Given the description of an element on the screen output the (x, y) to click on. 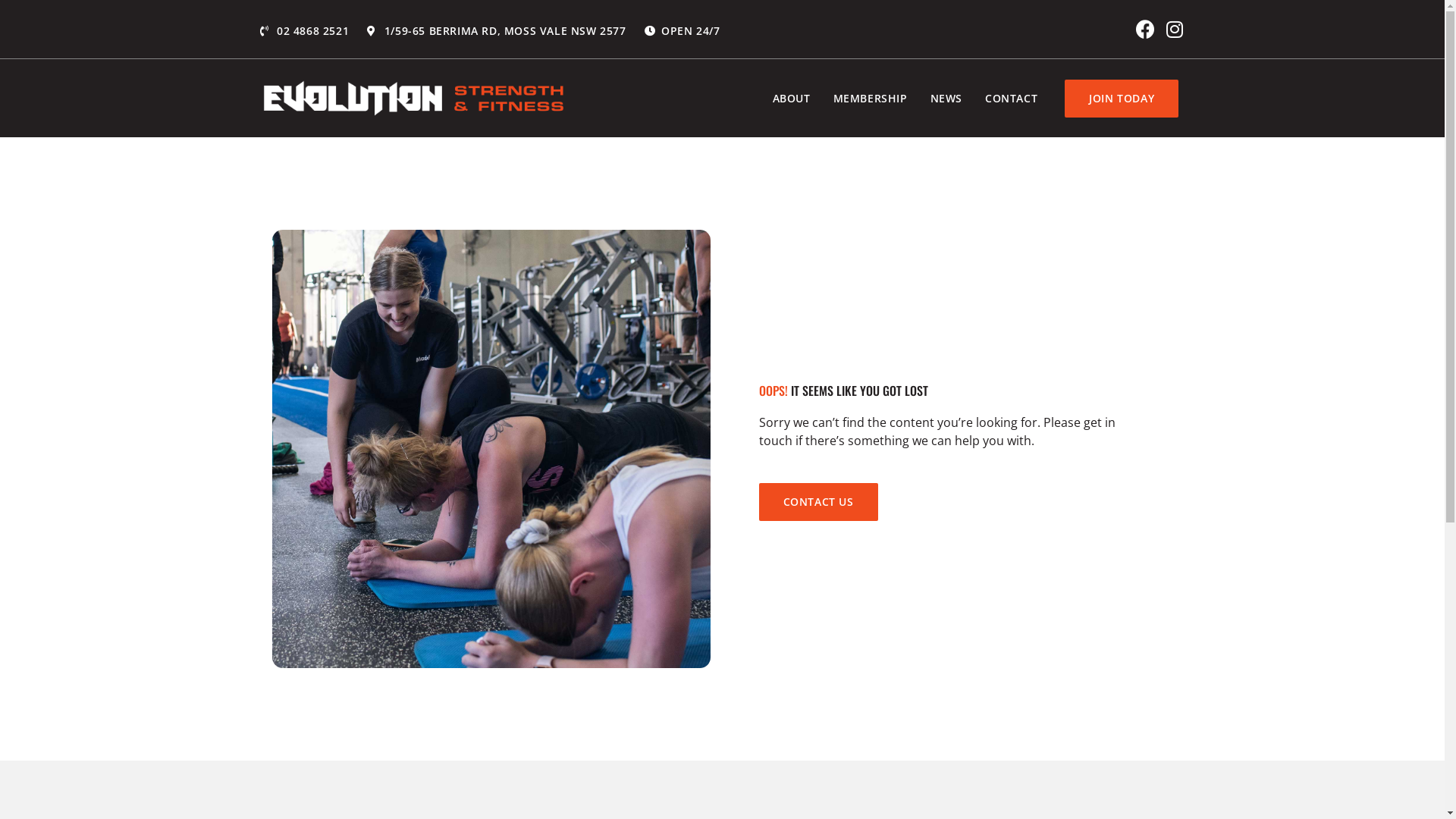
1/59-65 BERRIMA RD, MOSS VALE NSW 2577 Element type: text (496, 30)
NEWS Element type: text (946, 97)
02 4868 2521 Element type: text (303, 30)
MEMBERSHIP Element type: text (870, 97)
JOIN TODAY Element type: text (1121, 98)
ABOUT Element type: text (791, 97)
CONTACT Element type: text (1011, 97)
CONTACT US Element type: text (817, 501)
OPEN 24/7 Element type: text (682, 30)
